Given the description of an element on the screen output the (x, y) to click on. 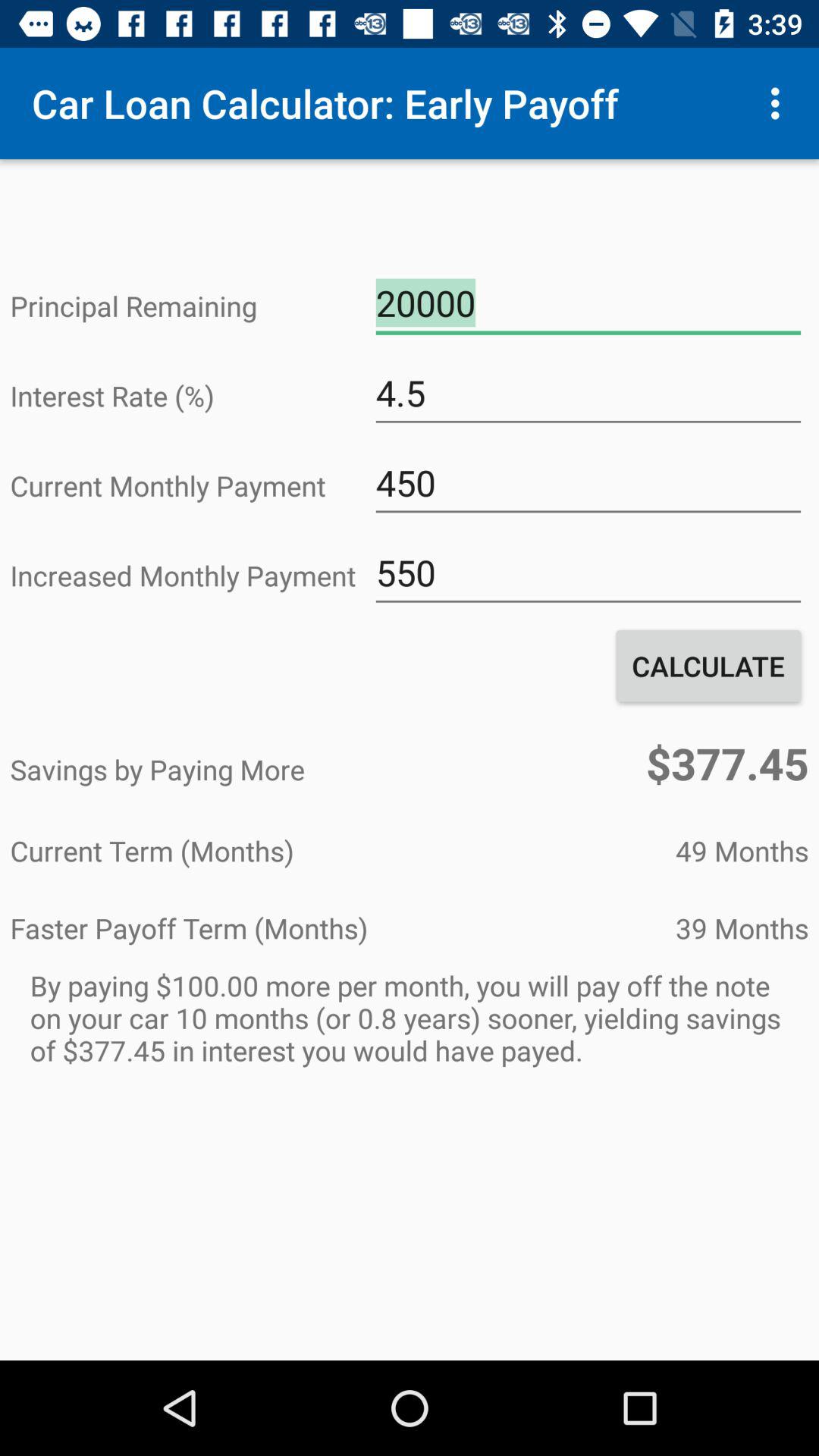
scroll to the 20000 icon (587, 303)
